Given the description of an element on the screen output the (x, y) to click on. 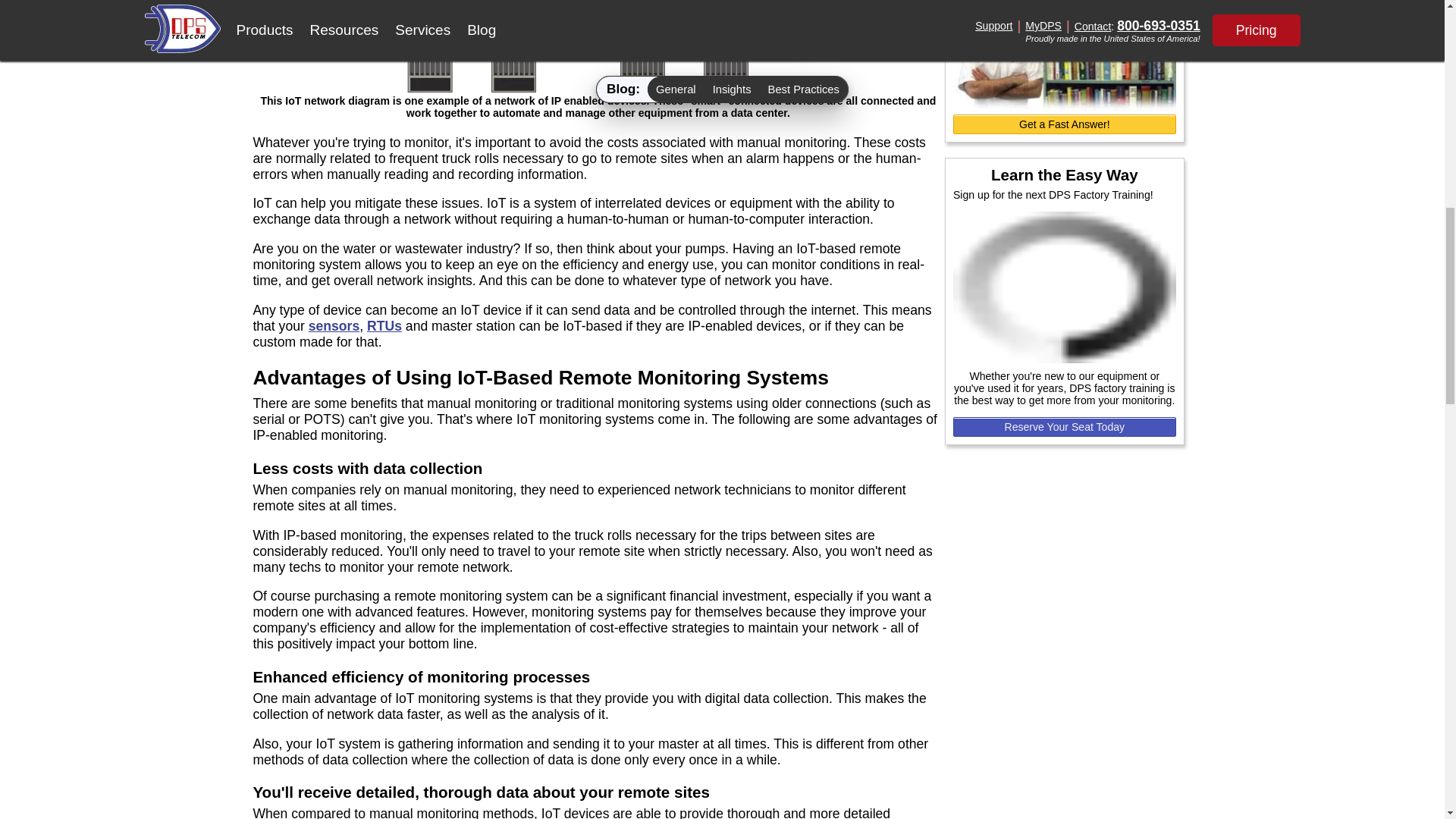
Get a Fast Answer! (1064, 124)
RTUs (383, 325)
Reserve Your Seat Today (1064, 426)
sensors (333, 325)
